Given the description of an element on the screen output the (x, y) to click on. 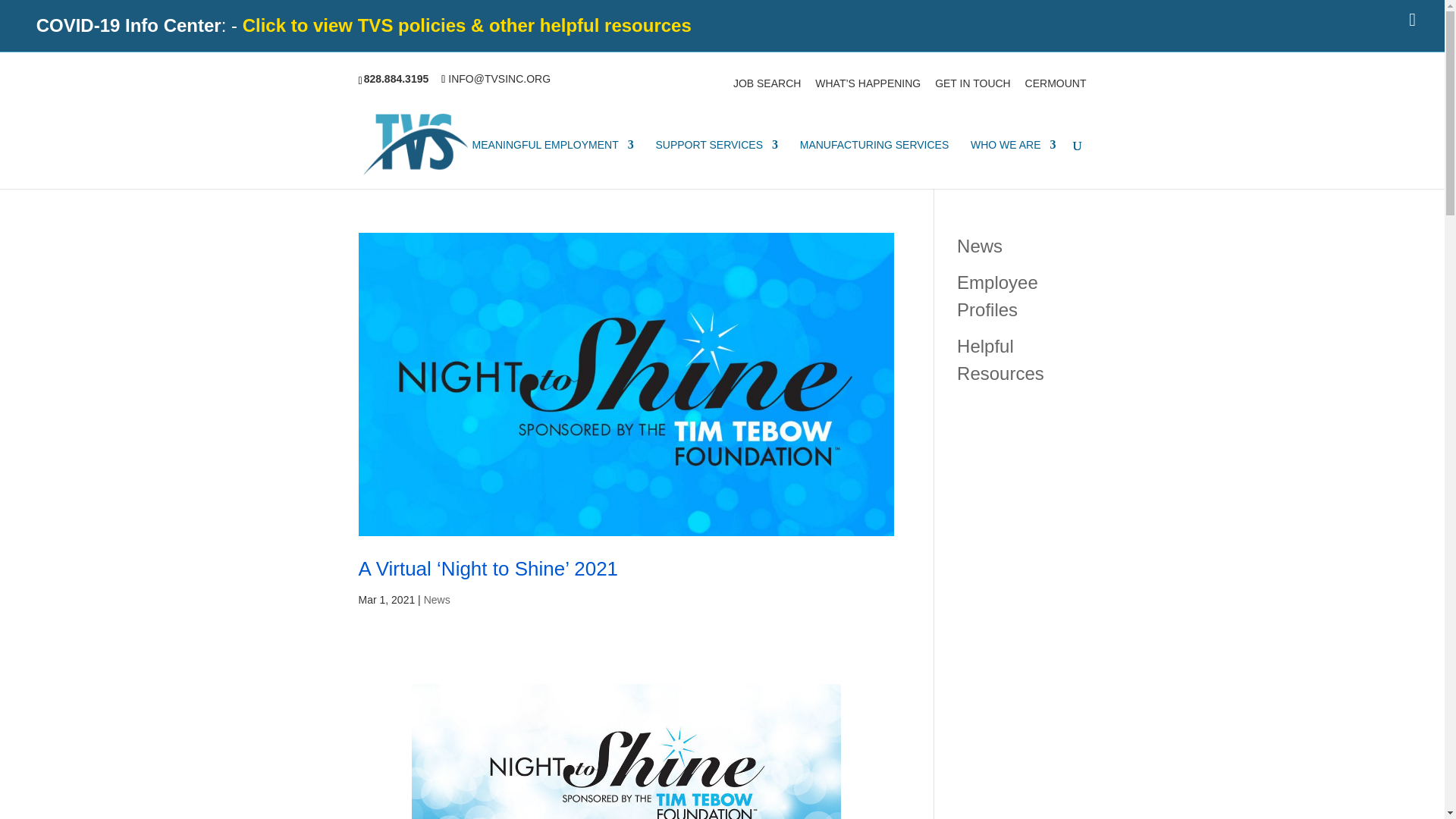
Helpful Resources (999, 358)
News (979, 245)
MANUFACTURING SERVICES (874, 164)
News (436, 599)
GET IN TOUCH (972, 87)
WHO WE ARE (1014, 164)
nighttoshine (626, 751)
SUPPORT SERVICES (716, 164)
CERMOUNT (1055, 87)
Employee Profiles (997, 295)
MEANINGFUL EMPLOYMENT (552, 164)
JOB SEARCH (766, 87)
